Given the description of an element on the screen output the (x, y) to click on. 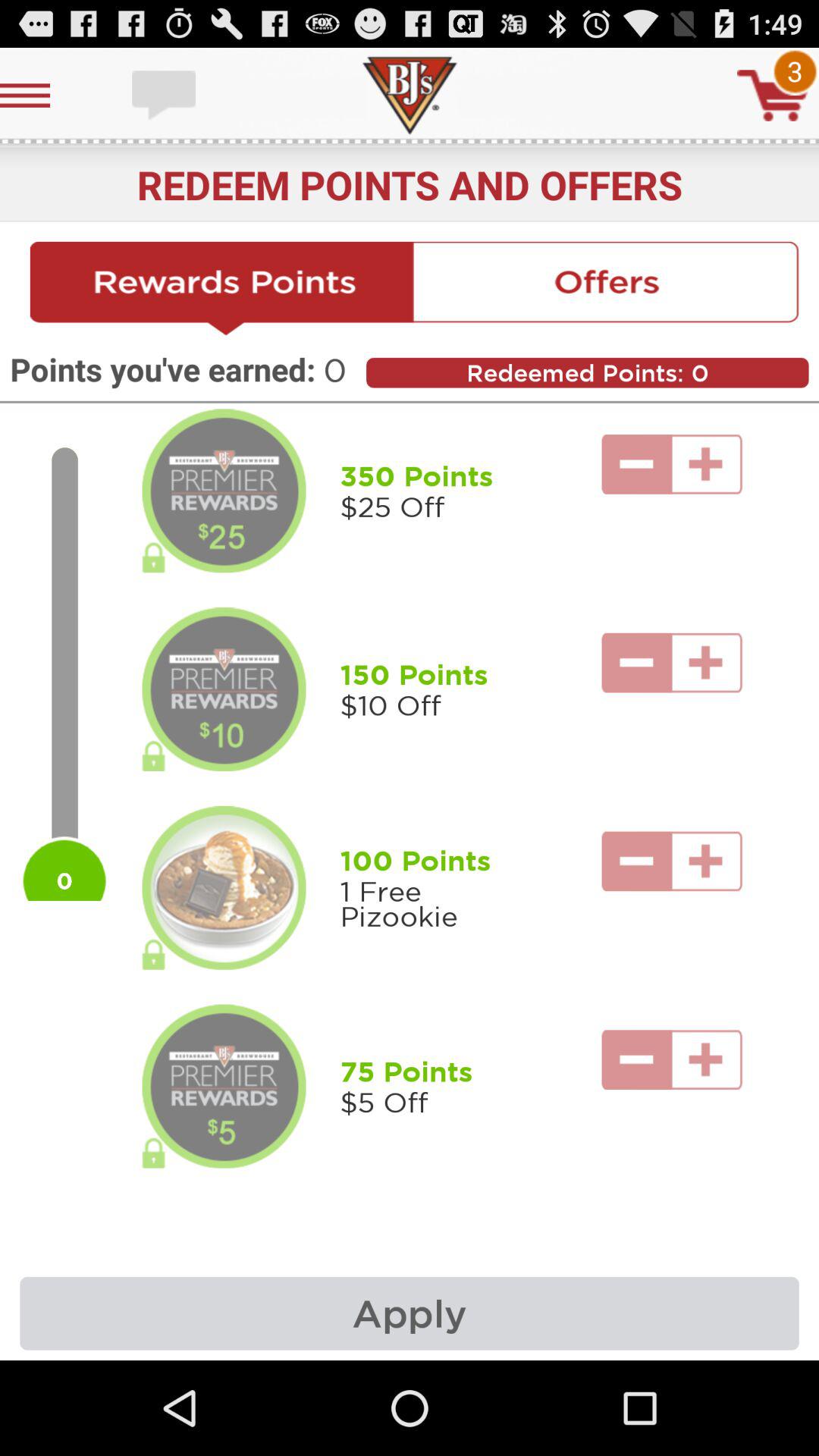
locked rewards program indicator (223, 689)
